Given the description of an element on the screen output the (x, y) to click on. 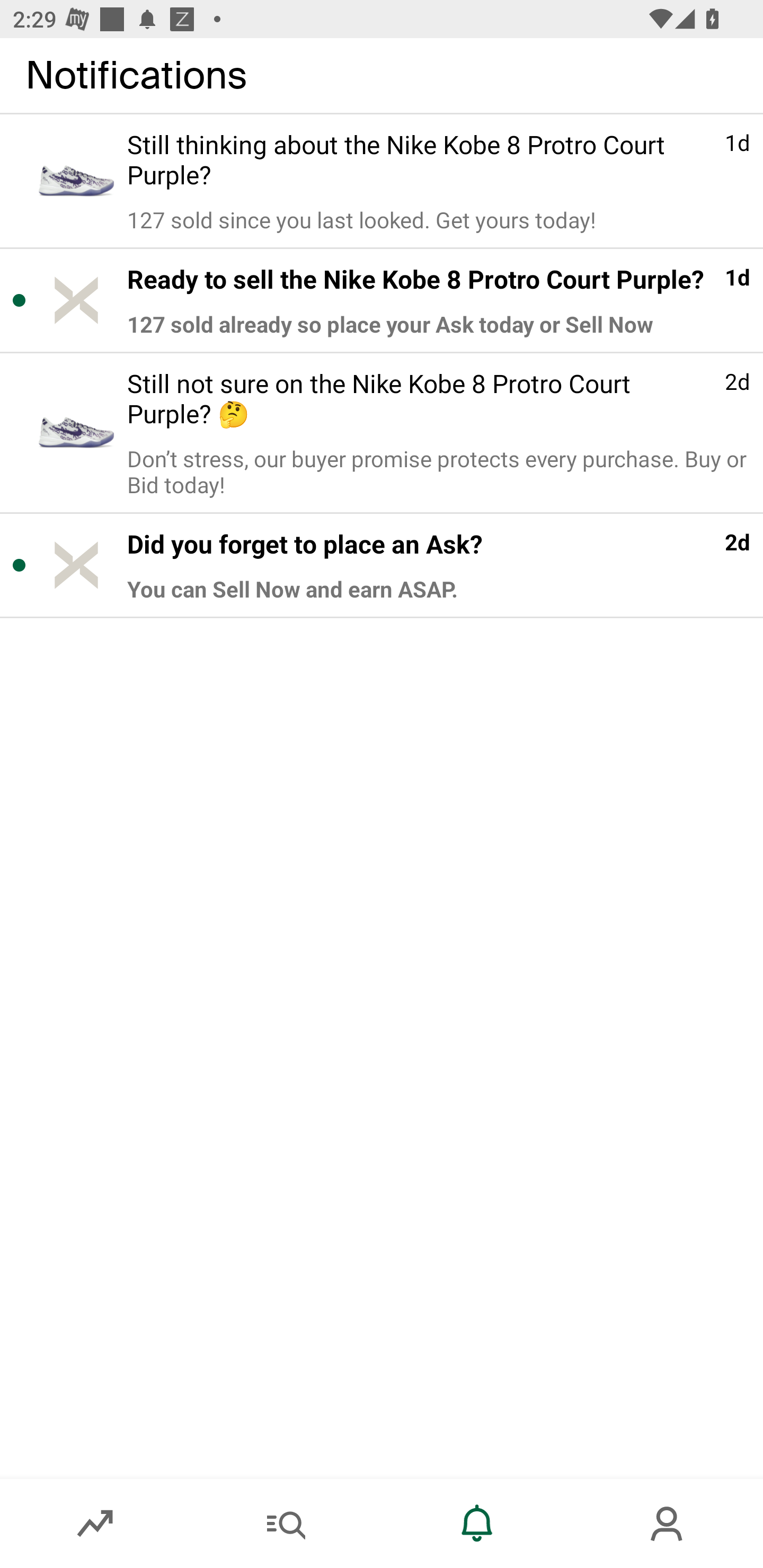
Market (95, 1523)
Search (285, 1523)
Account (667, 1523)
